Given the description of an element on the screen output the (x, y) to click on. 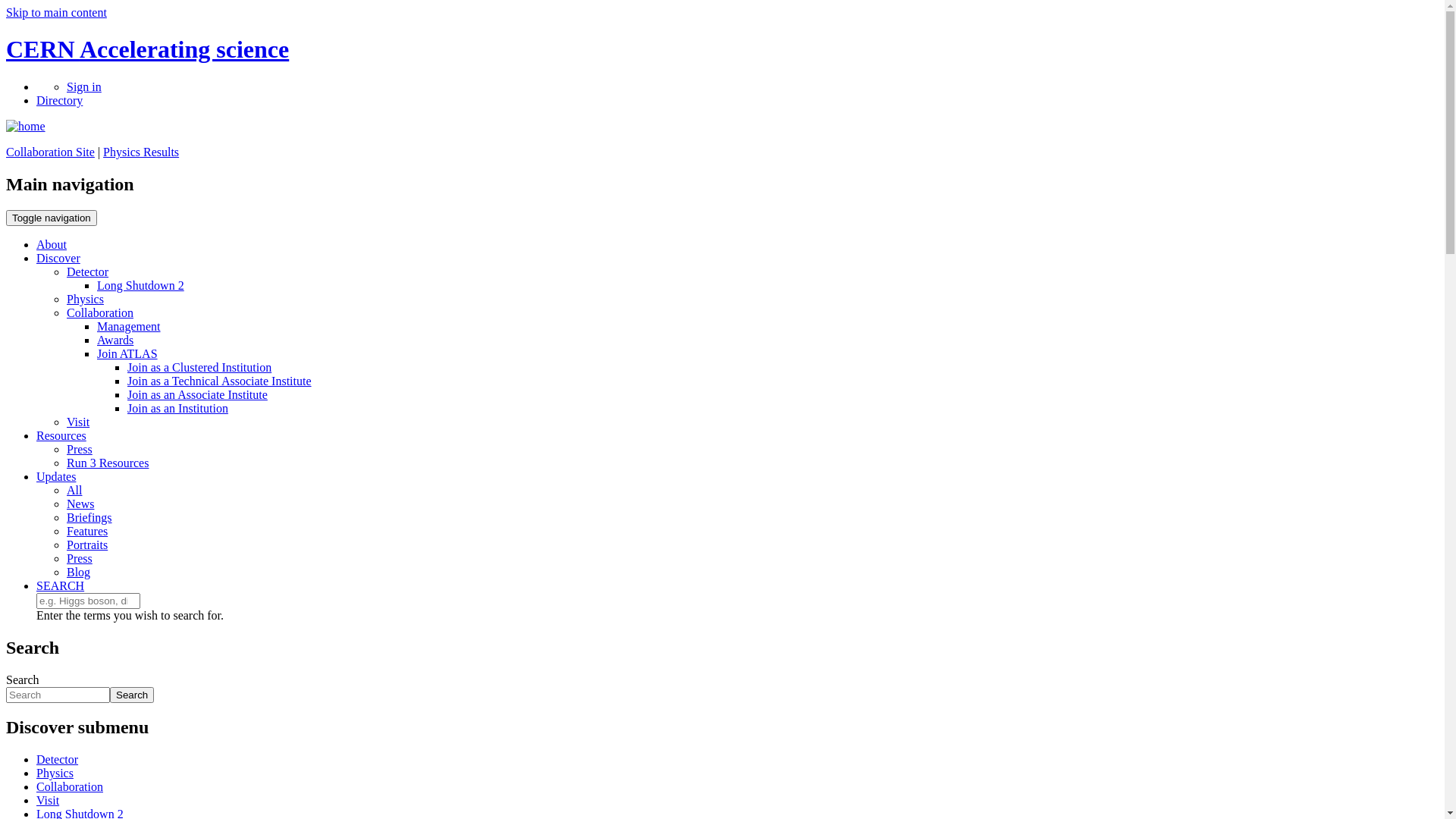
Join as an Associate Institute Element type: text (197, 394)
Sign in Element type: text (83, 86)
Join as a Technical Associate Institute Element type: text (219, 380)
Awards Element type: text (115, 339)
Press Element type: text (79, 448)
Visit Element type: text (77, 421)
Updates Element type: text (55, 476)
SEARCH Element type: text (60, 585)
Press Element type: text (79, 558)
Skip to main content Element type: text (56, 12)
Resources Element type: text (61, 435)
About Element type: text (51, 244)
Join as an Institution Element type: text (177, 407)
Detector Element type: text (57, 759)
Collaboration Site Element type: text (50, 151)
Collaboration Element type: text (99, 312)
Toggle navigation Element type: text (51, 217)
Run 3 Resources Element type: text (107, 462)
Collaboration Element type: text (69, 786)
Detector Element type: text (87, 271)
Physics Element type: text (84, 298)
Join as a Clustered Institution Element type: text (199, 366)
Portraits Element type: text (86, 544)
Enter the terms you wish to search for. Element type: hover (57, 694)
All Element type: text (73, 489)
Management Element type: text (128, 326)
Directory Element type: text (59, 100)
Long Shutdown 2 Element type: text (140, 285)
Enter the terms you wish to search for. Element type: hover (88, 600)
CERN Accelerating science Element type: text (147, 48)
Physics Element type: text (54, 772)
Physics Results Element type: text (140, 151)
Briefings Element type: text (89, 517)
Blog Element type: text (78, 571)
Join ATLAS Element type: text (127, 353)
Search Element type: text (131, 694)
Features Element type: text (86, 530)
News Element type: text (80, 503)
Discover Element type: text (58, 257)
Visit Element type: text (47, 799)
Home Element type: hover (25, 125)
